Given the description of an element on the screen output the (x, y) to click on. 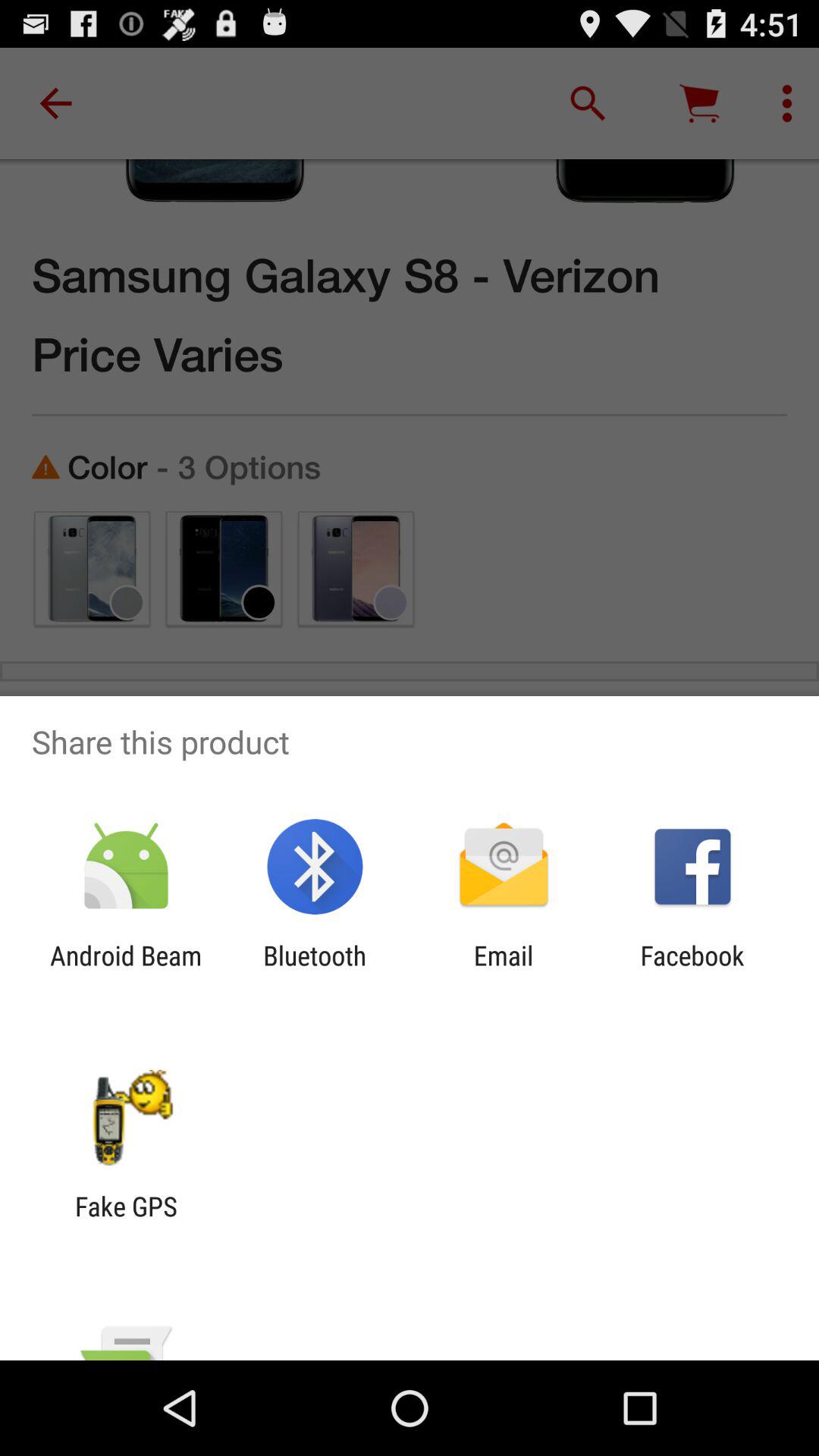
open the item next to email (314, 971)
